Given the description of an element on the screen output the (x, y) to click on. 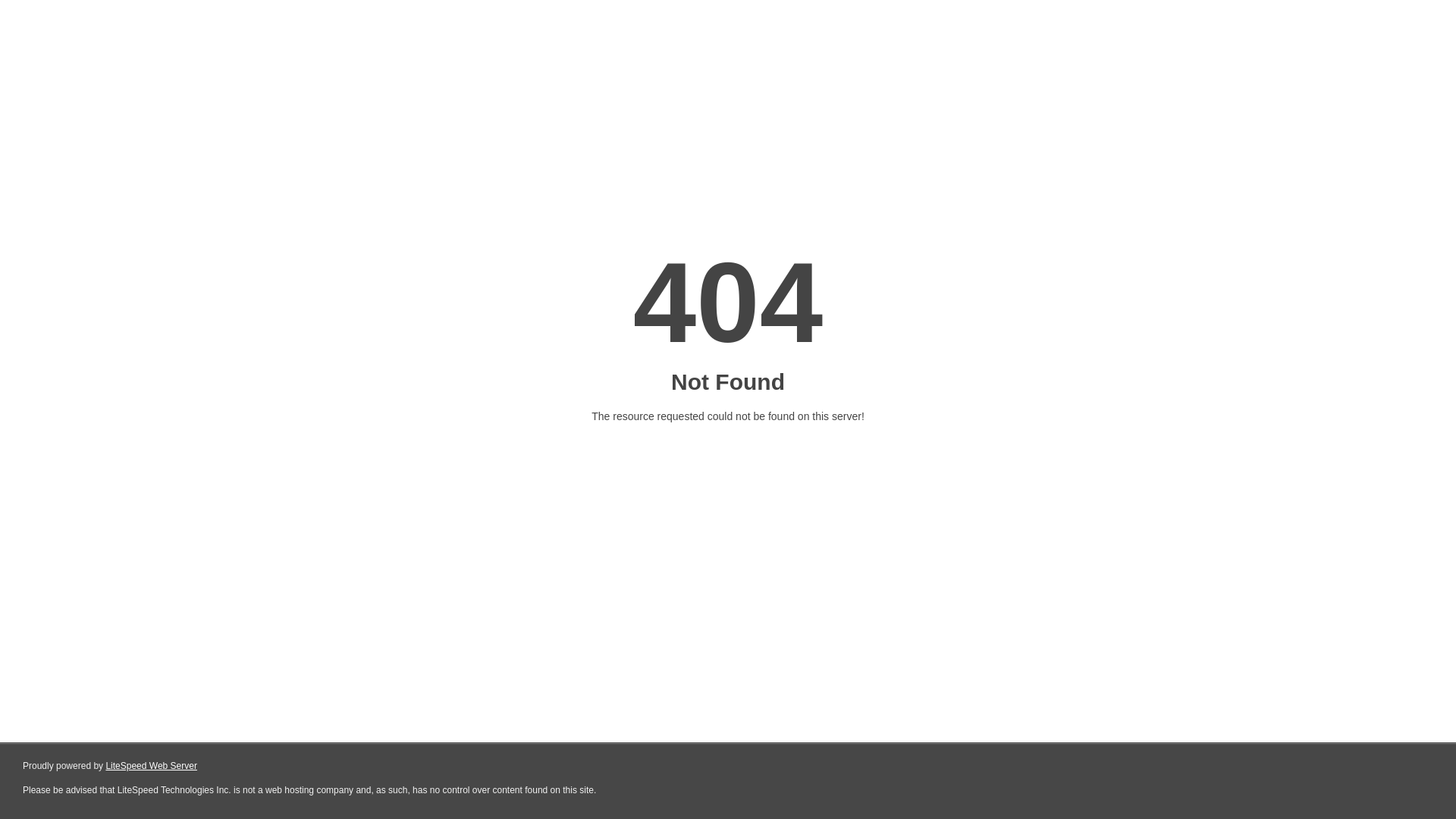
LiteSpeed Web Server Element type: text (151, 765)
